Given the description of an element on the screen output the (x, y) to click on. 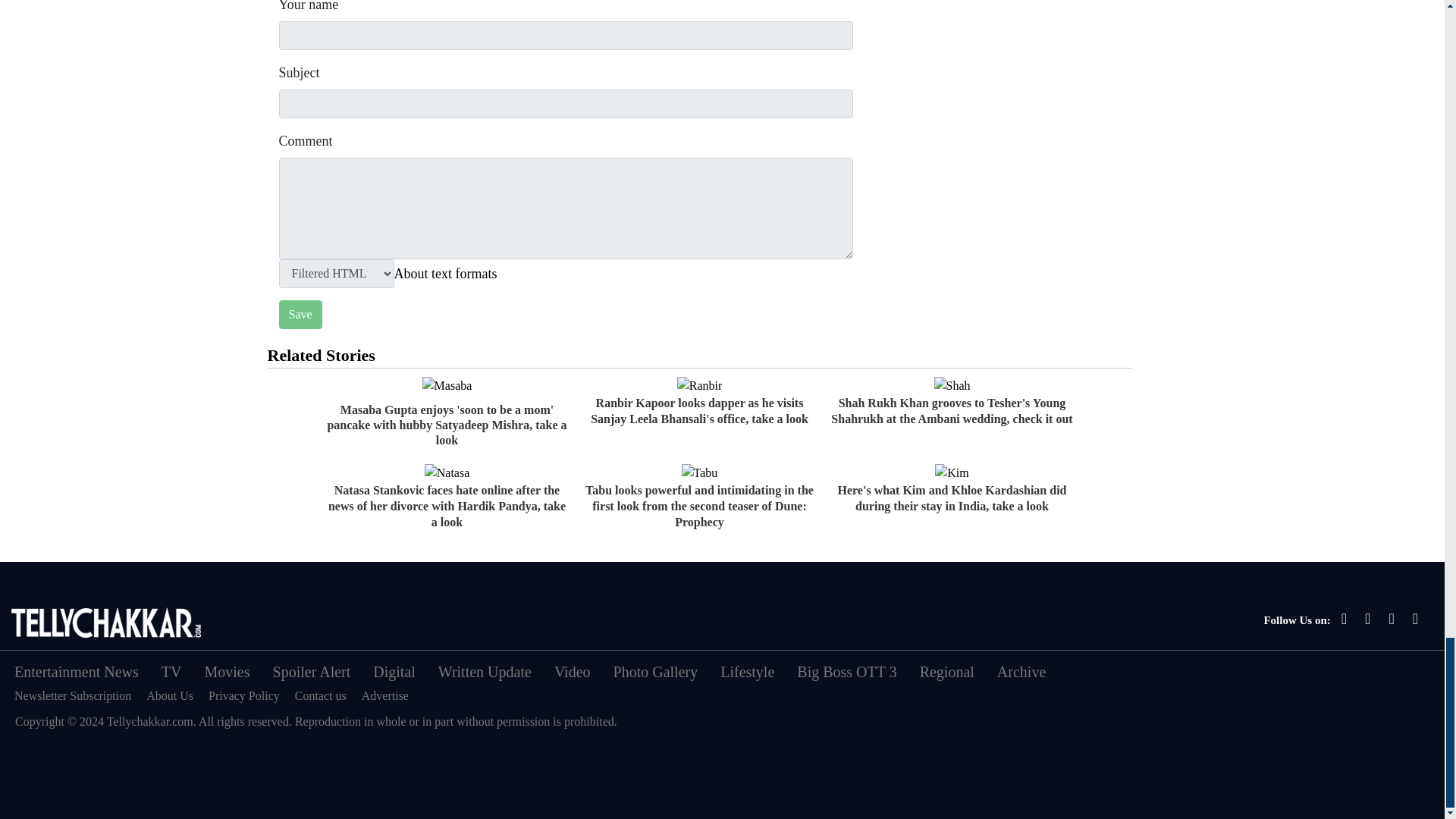
Shah  (952, 385)
Kim  (951, 473)
TellyChakkar Logo (105, 622)
Tabu  (699, 473)
Natasa  (447, 473)
Masaba  (446, 385)
Ranbir  (699, 385)
Opens in new window (445, 273)
